Given the description of an element on the screen output the (x, y) to click on. 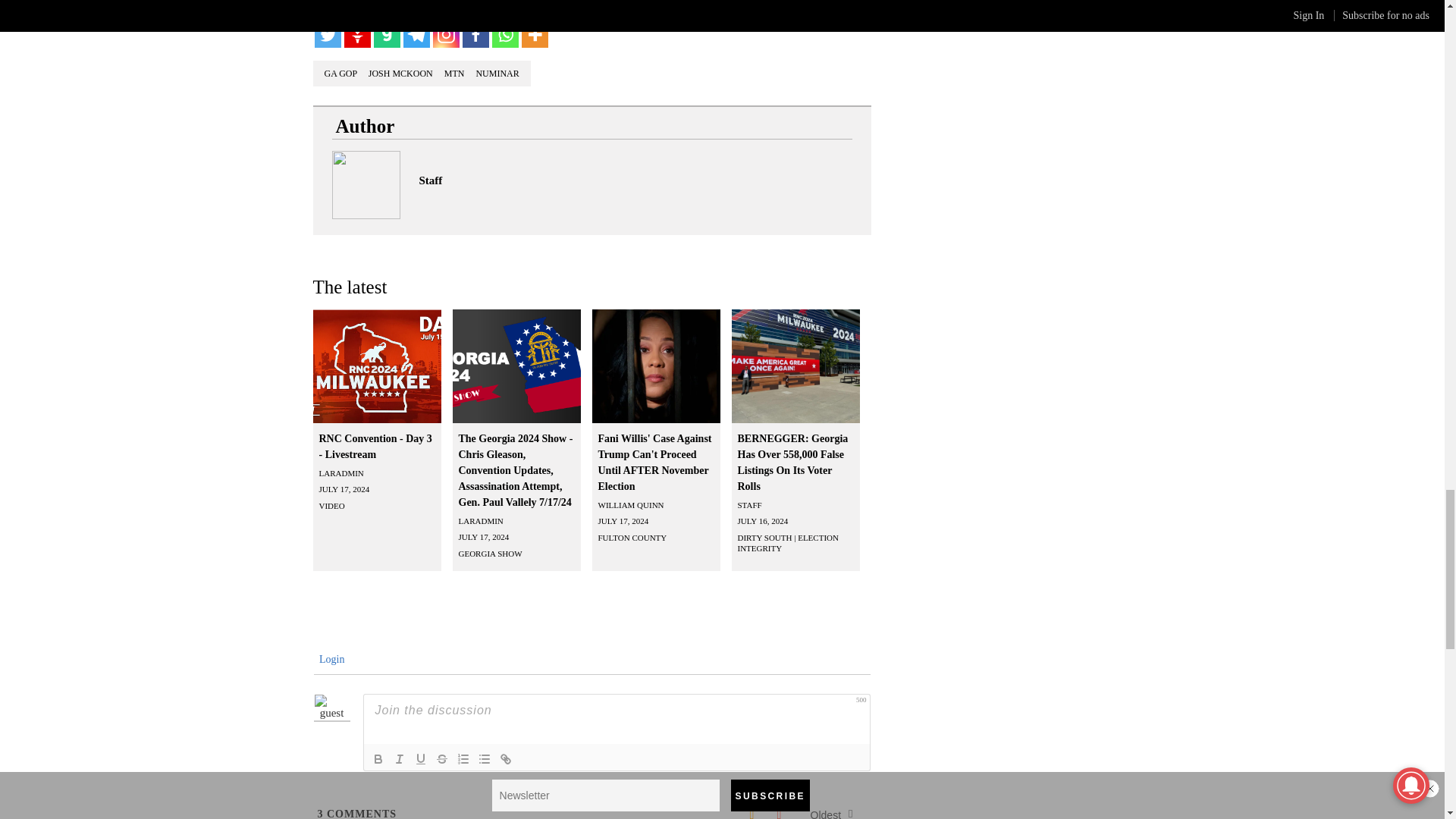
Gettr (357, 34)
Whatsapp (505, 34)
Gab (385, 34)
Strike (440, 759)
Instagram (445, 34)
Link (505, 759)
Facebook (476, 34)
Underline (419, 759)
More (534, 34)
Bold (377, 759)
Unordered List (484, 759)
Italic (398, 759)
Telegram (416, 34)
Twitter (327, 34)
Ordered List (462, 759)
